Given the description of an element on the screen output the (x, y) to click on. 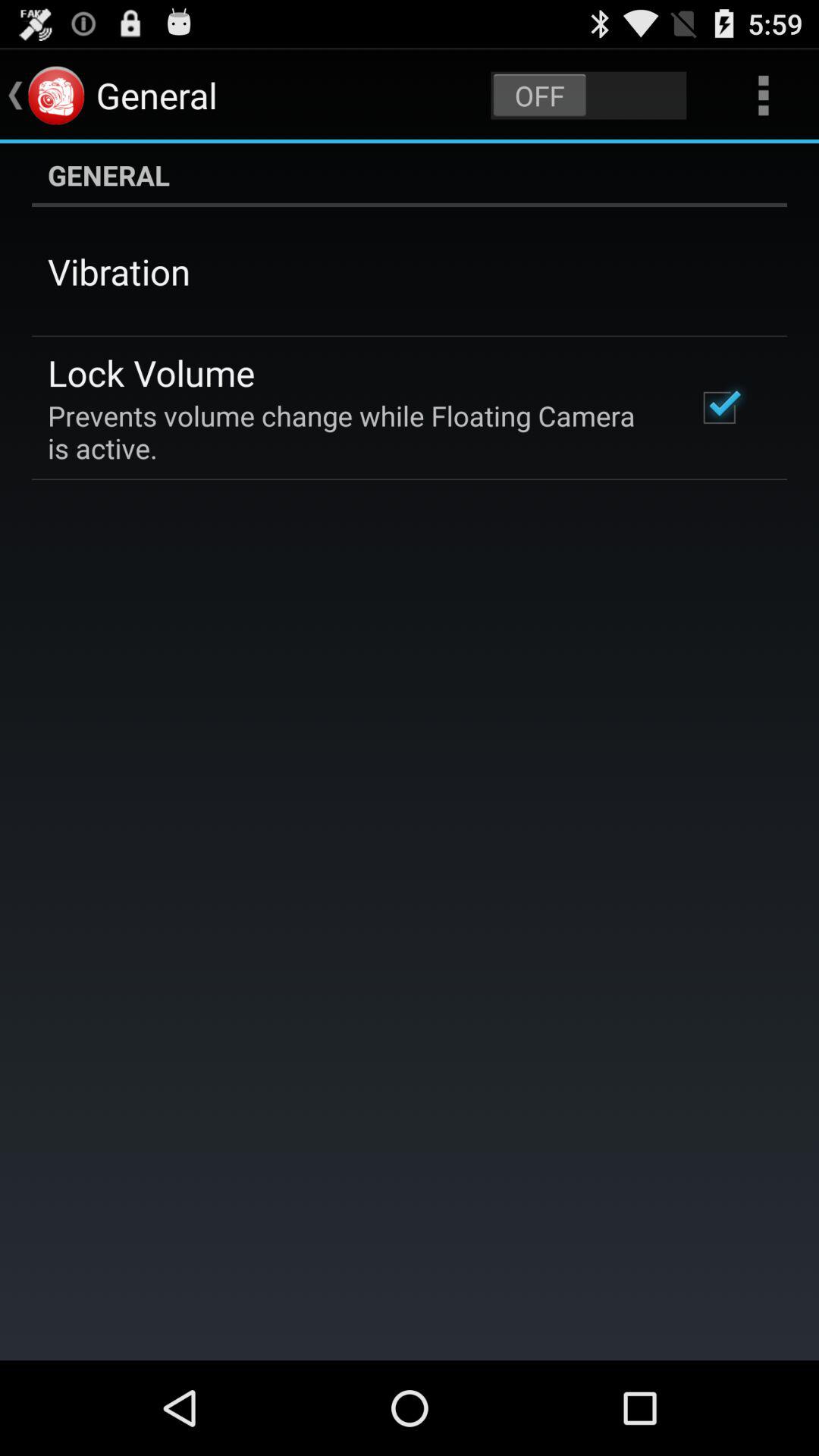
turn on icon to the right of prevents volume change (719, 407)
